Given the description of an element on the screen output the (x, y) to click on. 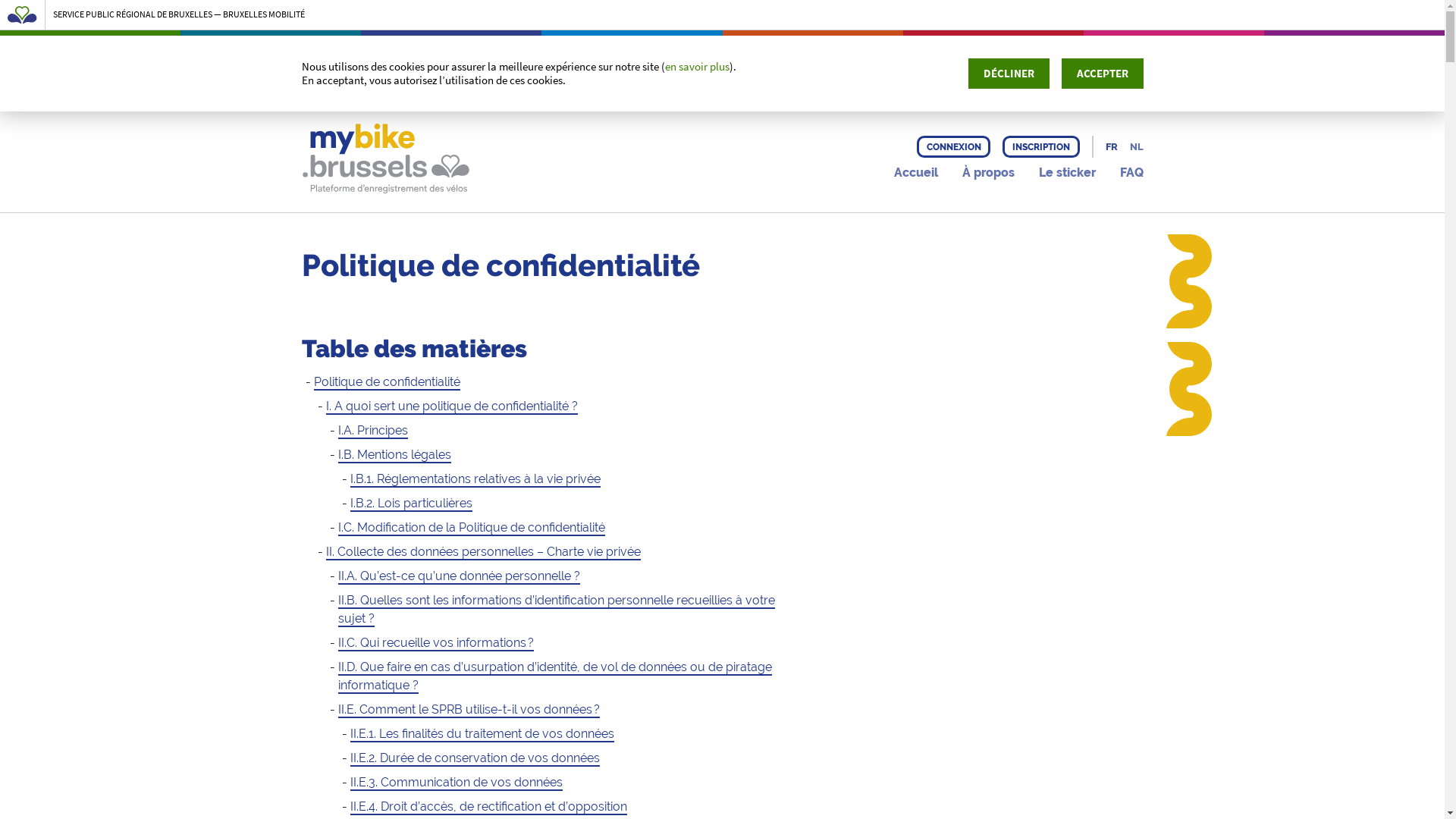
en savoir plus Element type: text (697, 67)
FAQ Element type: text (1130, 172)
CONNEXION Element type: text (953, 146)
ACCEPTER Element type: text (1102, 73)
FR Element type: text (1111, 146)
I.A. Principes Element type: text (372, 431)
NL Element type: text (1136, 146)
Accueil Element type: text (915, 172)
INSCRIPTION Element type: text (1040, 146)
Le sticker Element type: text (1066, 172)
